Given the description of an element on the screen output the (x, y) to click on. 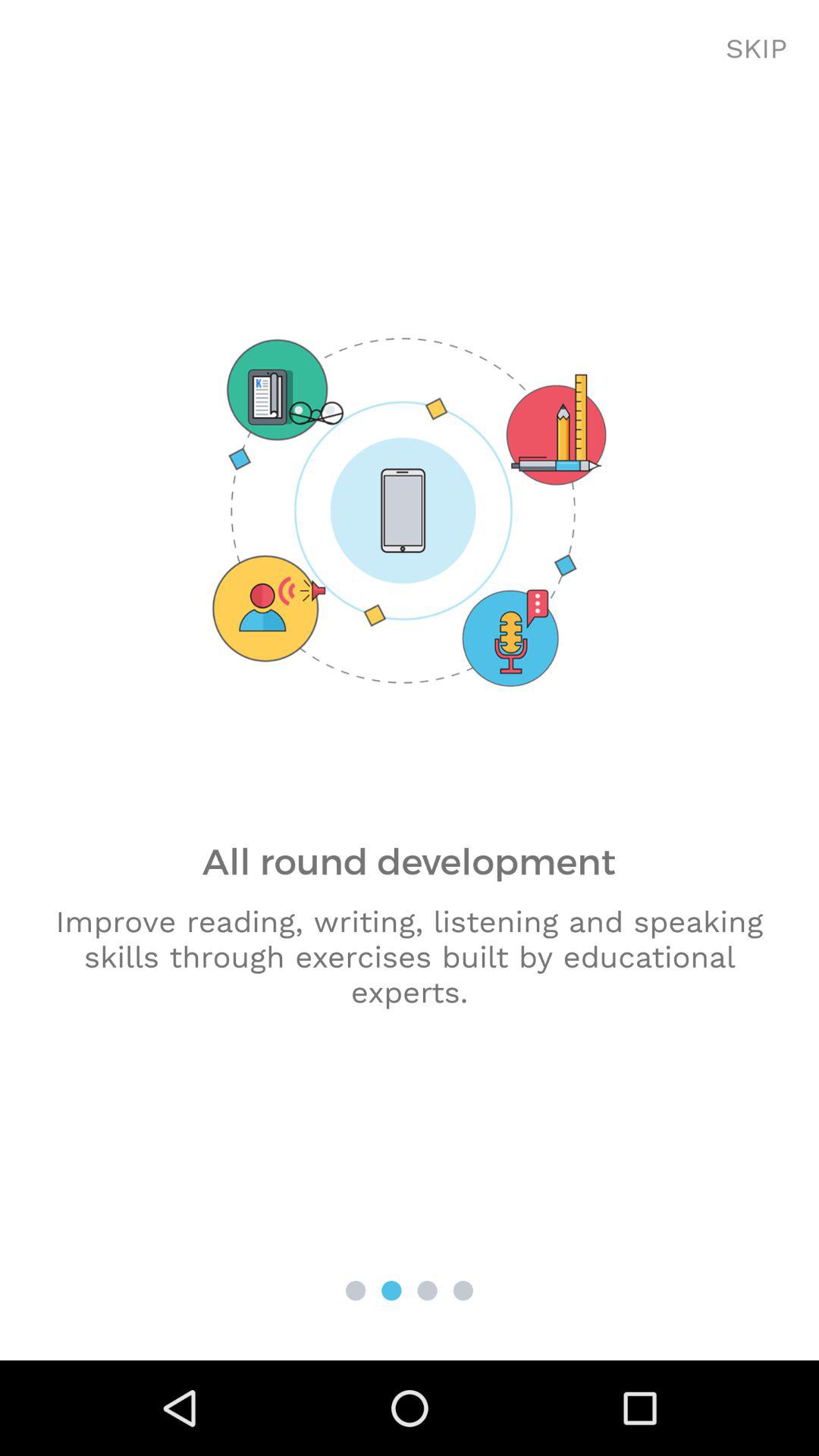
press the item at the top right corner (756, 49)
